Given the description of an element on the screen output the (x, y) to click on. 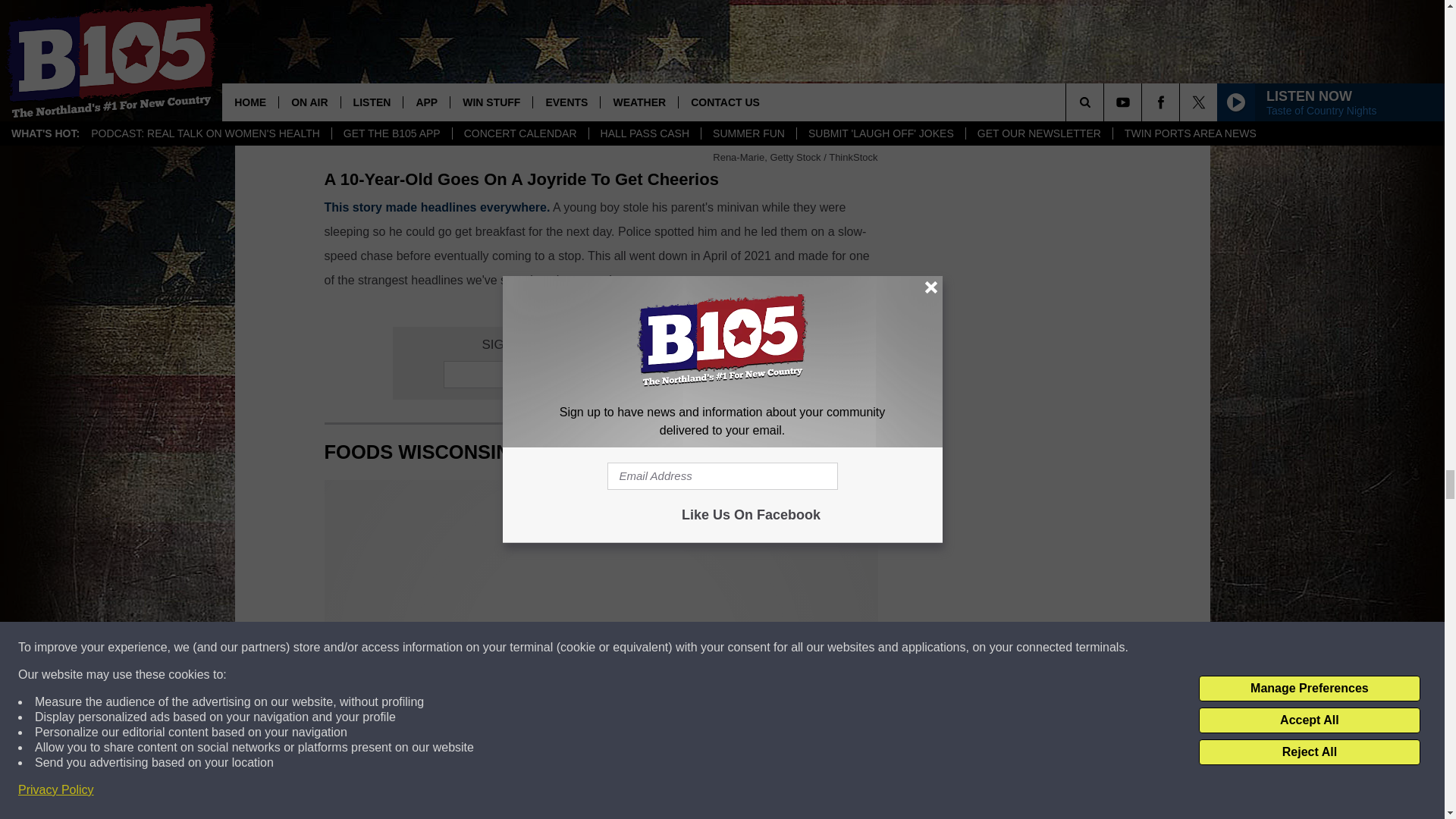
Email Address (600, 374)
